Given the description of an element on the screen output the (x, y) to click on. 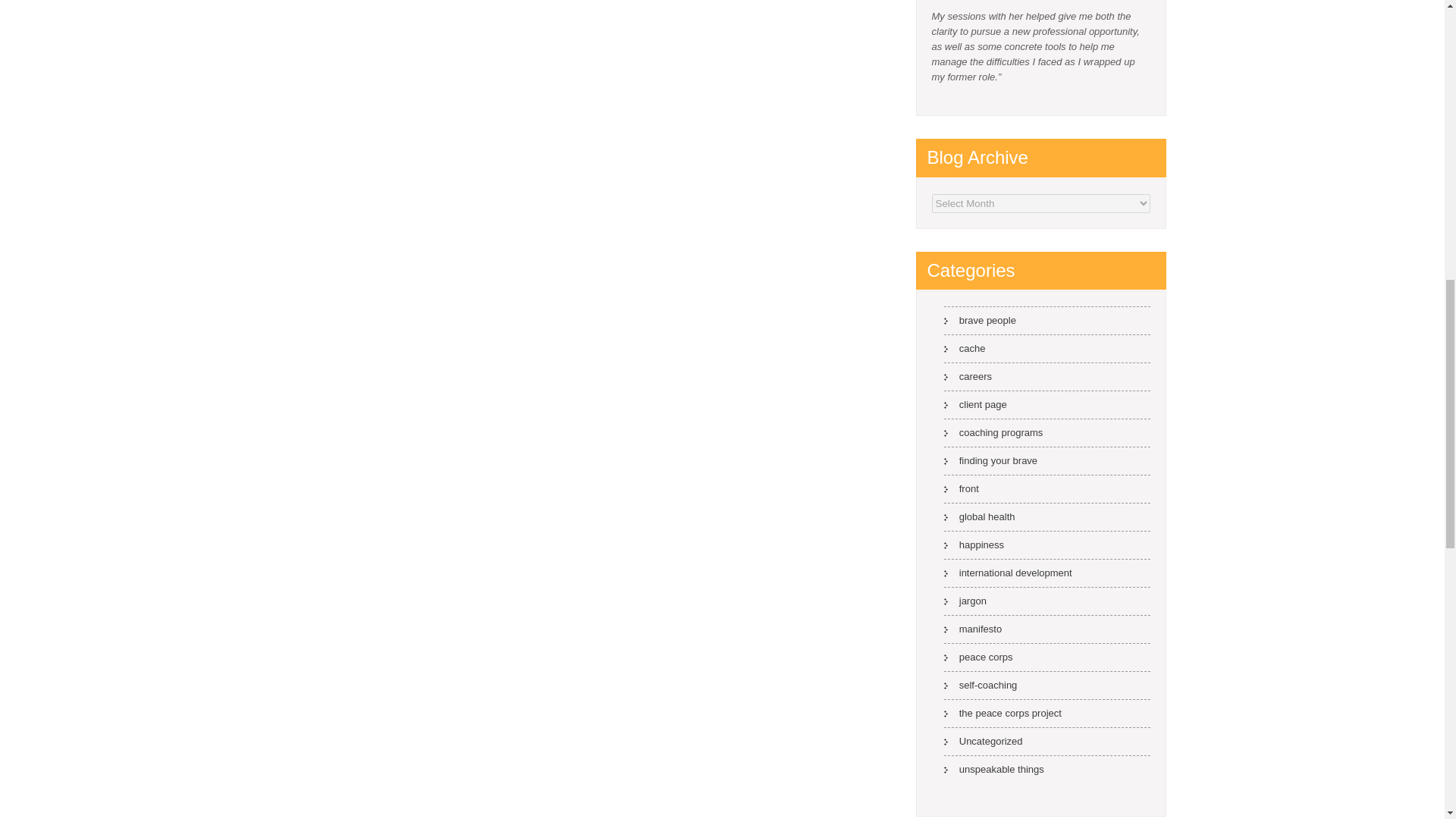
cache (964, 347)
brave people (979, 320)
global health (978, 516)
careers (967, 376)
finding your brave (989, 460)
coaching programs (993, 432)
front (960, 488)
client page (975, 404)
